Given the description of an element on the screen output the (x, y) to click on. 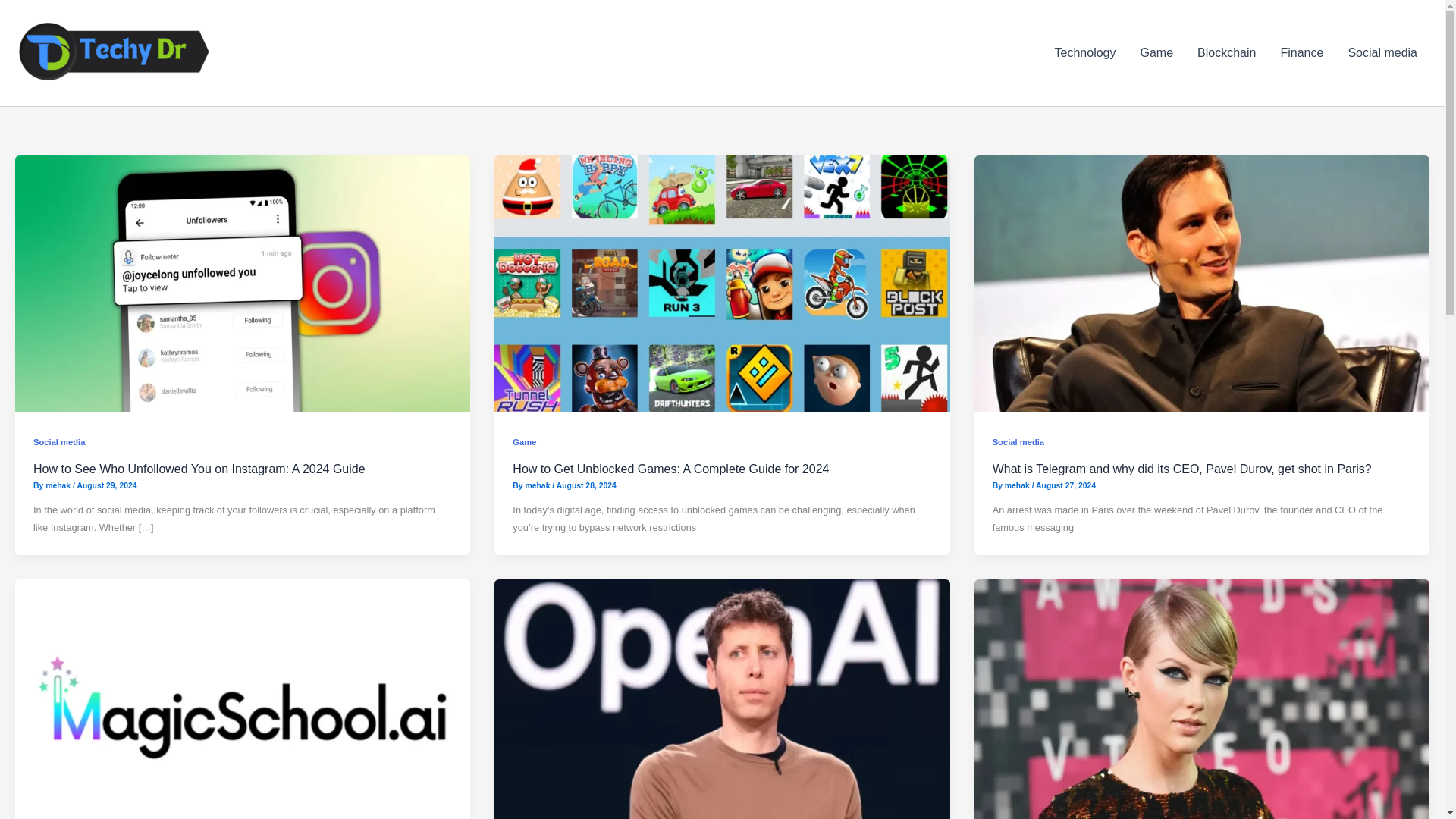
Social media (1017, 441)
Finance (1301, 52)
How to See Who Unfollowed You on Instagram: A 2024 Guide (199, 468)
Technology (1085, 52)
mehak (537, 485)
Social media (58, 441)
Social media (1382, 52)
Game (1157, 52)
View all posts by mehak (1018, 485)
View all posts by mehak (58, 485)
